Given the description of an element on the screen output the (x, y) to click on. 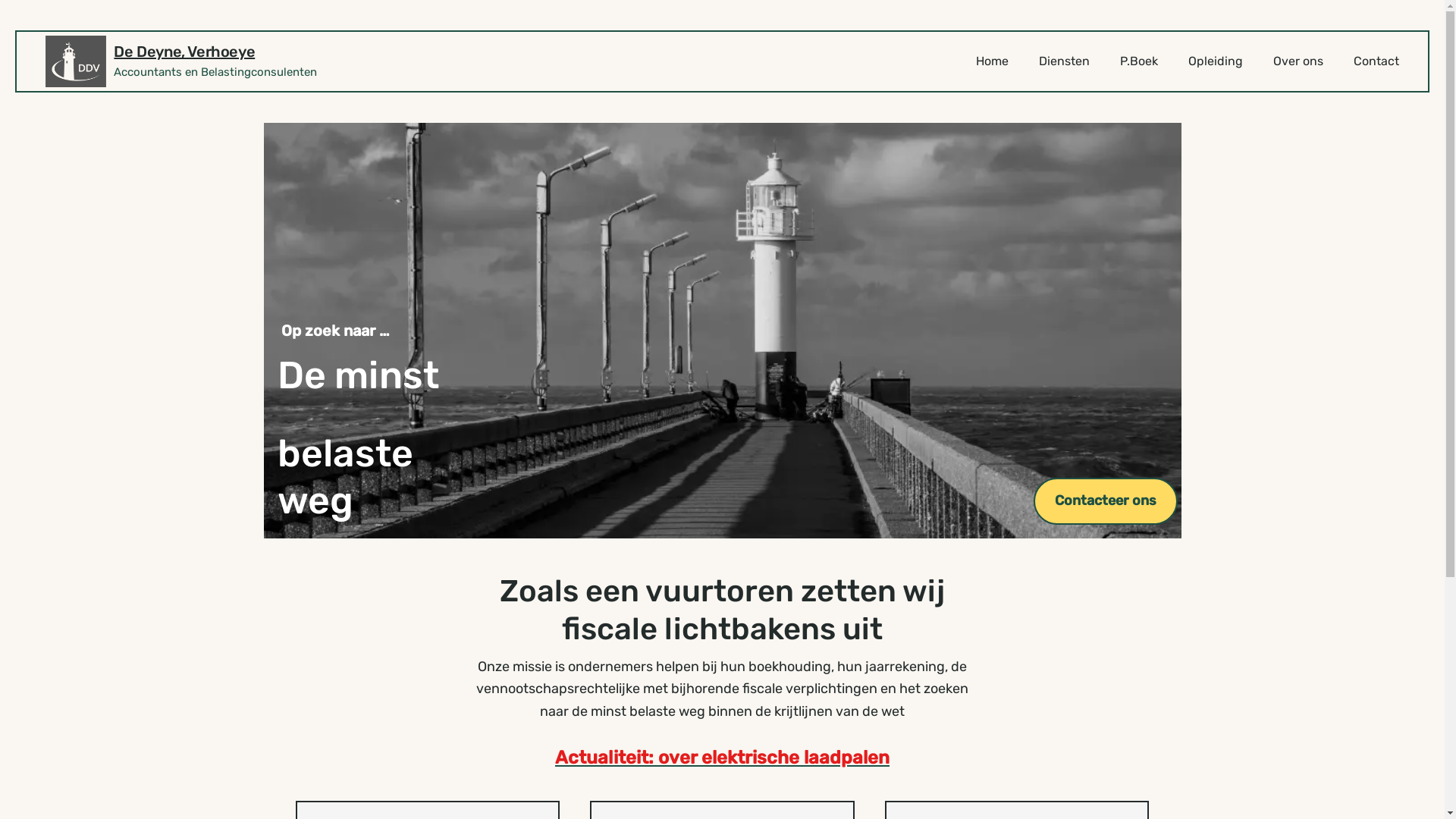
Diensten Element type: text (1063, 61)
De Deyne, Verhoeye Element type: text (183, 51)
Contact Element type: text (1376, 61)
Opleiding Element type: text (1215, 61)
Home Element type: text (991, 61)
Actualiteit: over elektrische laadpalen Element type: text (722, 757)
Over ons Element type: text (1298, 61)
Contacteer ons Element type: text (1105, 500)
P.Boek Element type: text (1138, 61)
